Given the description of an element on the screen output the (x, y) to click on. 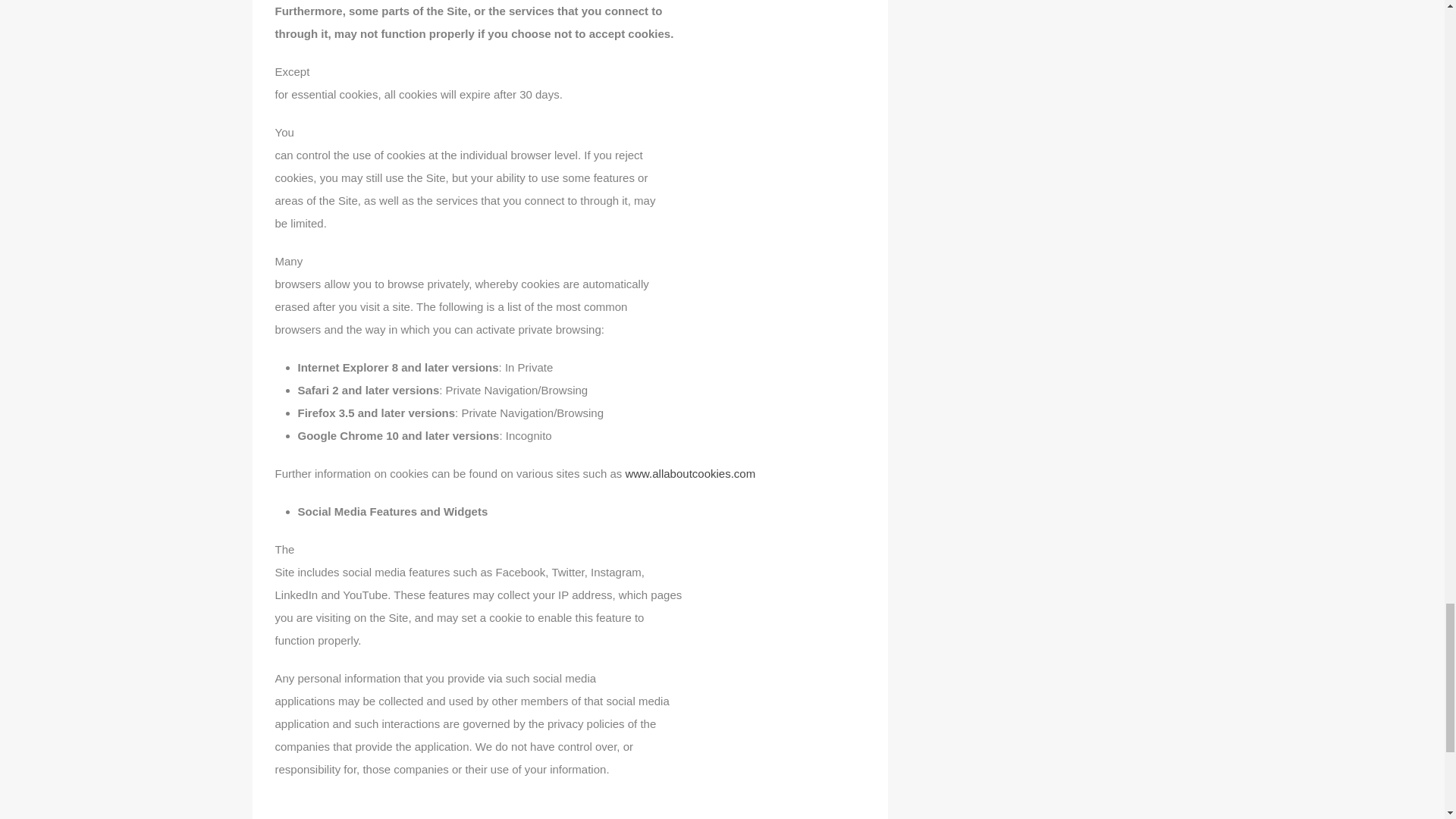
www.allaboutcookies.com (689, 472)
